Given the description of an element on the screen output the (x, y) to click on. 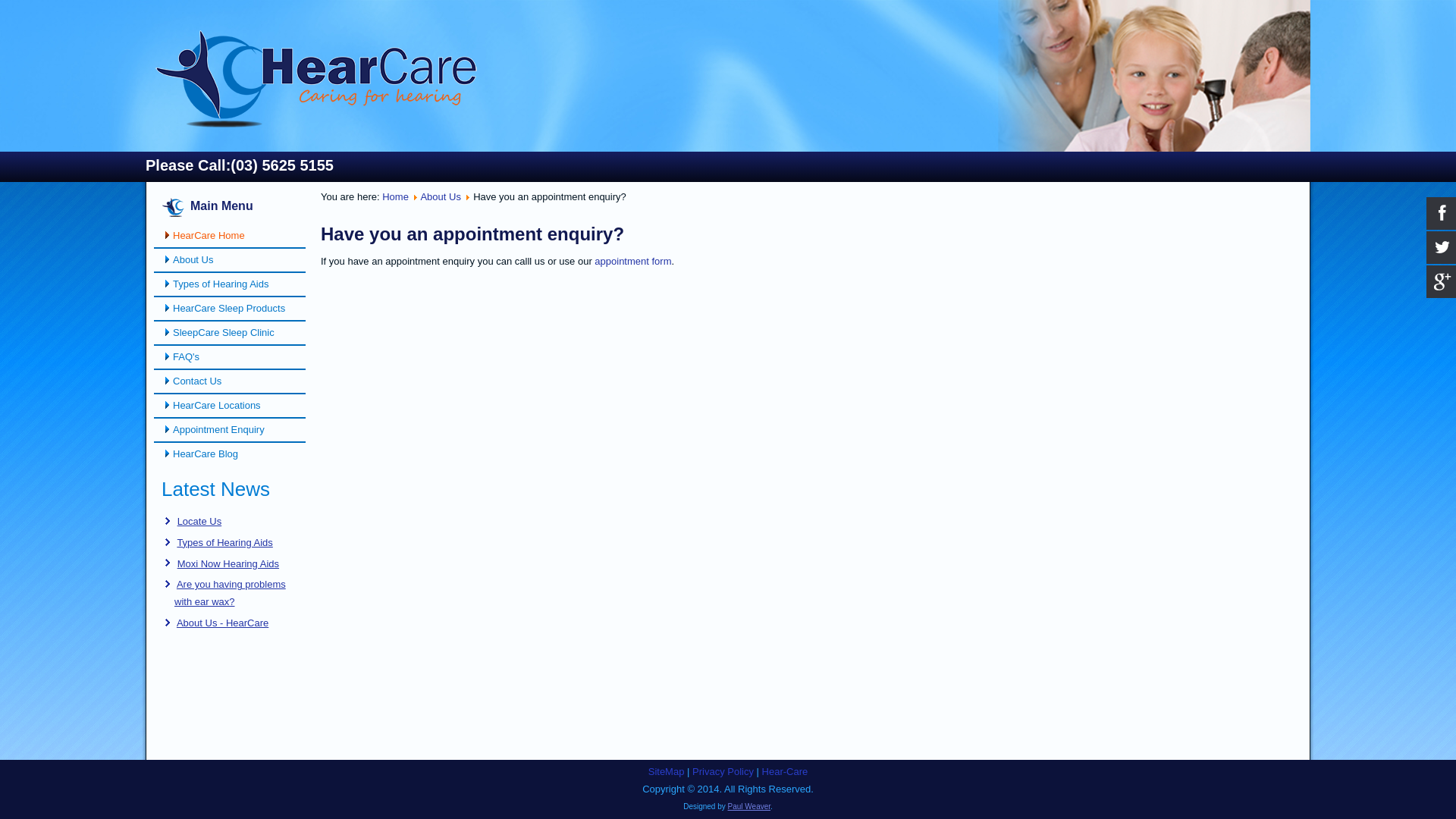
SleepCare Sleep Clinic Element type: text (229, 332)
Have you an appointment enquiry? Element type: text (472, 232)
HearCare Sleep Products Element type: text (229, 308)
appointment form Element type: text (632, 260)
About Us - HearCare Element type: text (222, 622)
HearCare Locations Element type: text (229, 405)
SiteMap Element type: text (666, 771)
FAQ's Element type: text (229, 356)
Types of Hearing Aids Element type: text (229, 284)
HearCare Home Element type: text (229, 235)
Types of Hearing Aids Element type: text (224, 542)
HearCare Blog Element type: text (229, 453)
About Us Element type: text (229, 259)
Hear-Care Element type: text (785, 771)
Home Element type: text (395, 196)
Are you having problems with ear wax? Element type: text (229, 592)
Moxi Now Hearing Aids Element type: text (228, 563)
Appointment Enquiry Element type: text (229, 429)
Locate Us Element type: text (199, 521)
About Us Element type: text (440, 196)
Contact Us Element type: text (229, 381)
Paul Weaver Element type: text (749, 806)
Privacy Policy Element type: text (722, 771)
